Given the description of an element on the screen output the (x, y) to click on. 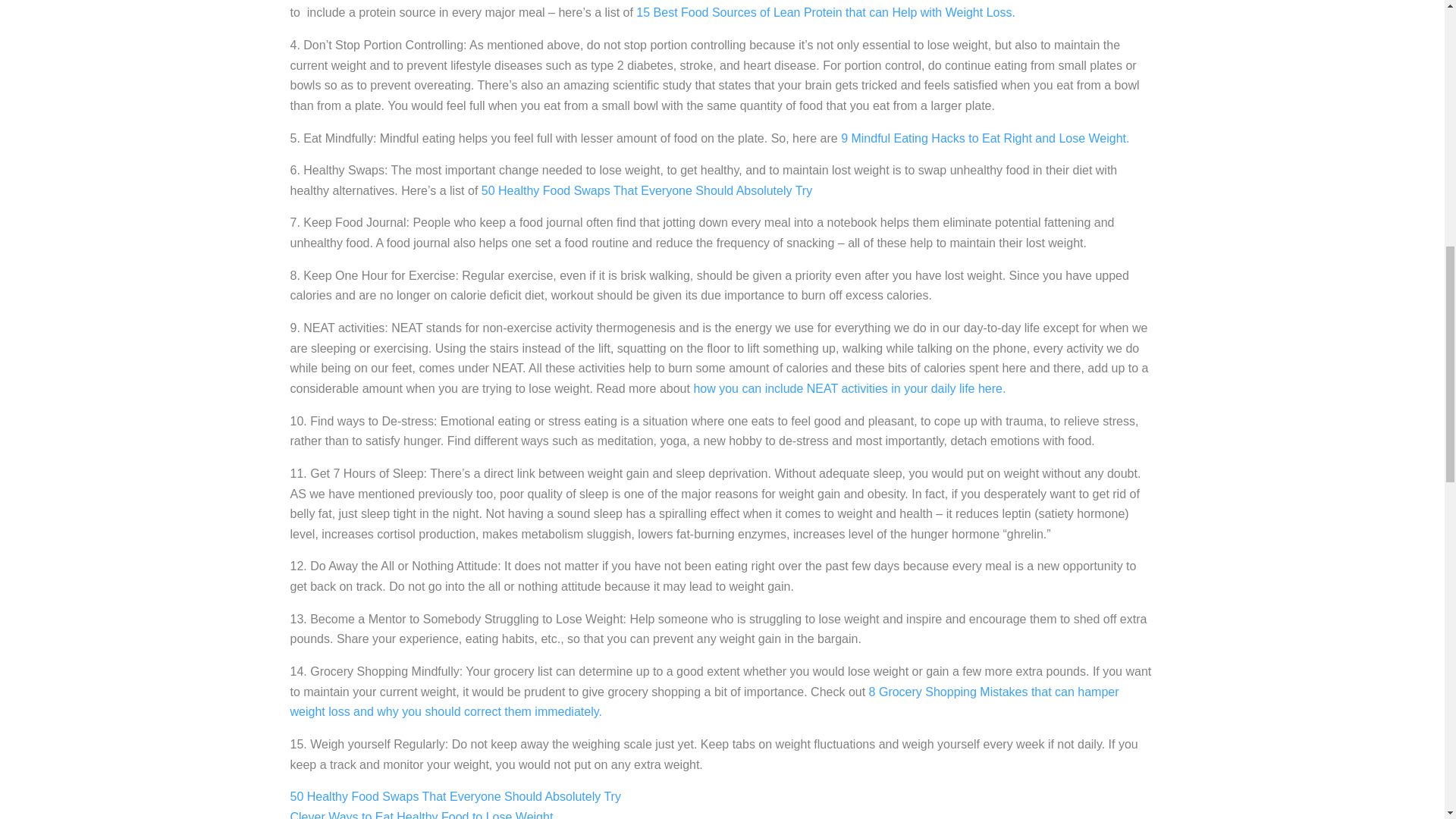
9 Mindful Eating Hacks to Eat Right and Lose Weight. (985, 137)
50 Healthy Food Swaps That Everyone Should Absolutely Try (646, 190)
50 Healthy Food Swaps That Everyone Should Absolutely Try (454, 796)
Clever Ways to Eat Healthy Food to Lose Weight (421, 814)
how you can include NEAT activities in your daily life here. (849, 388)
